Given the description of an element on the screen output the (x, y) to click on. 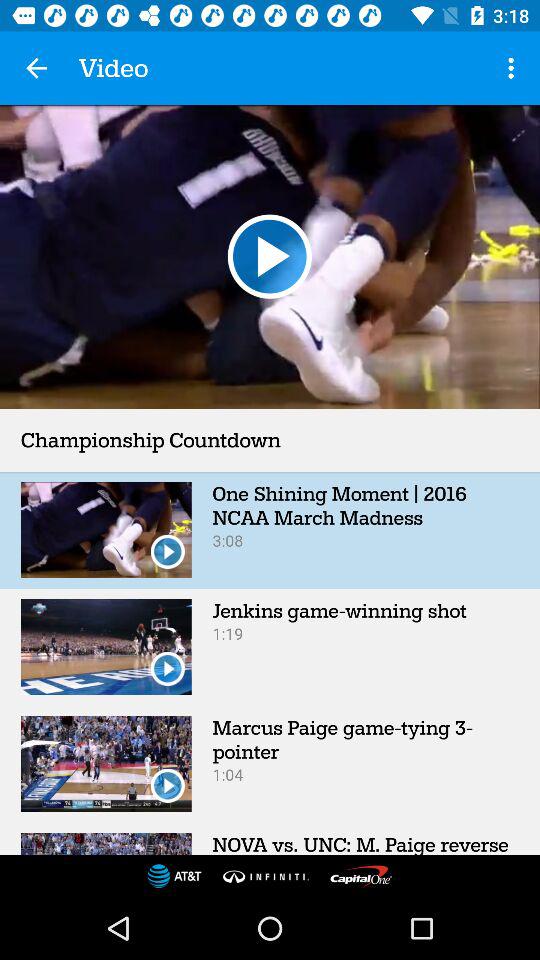
choose app next to the video app (513, 67)
